Given the description of an element on the screen output the (x, y) to click on. 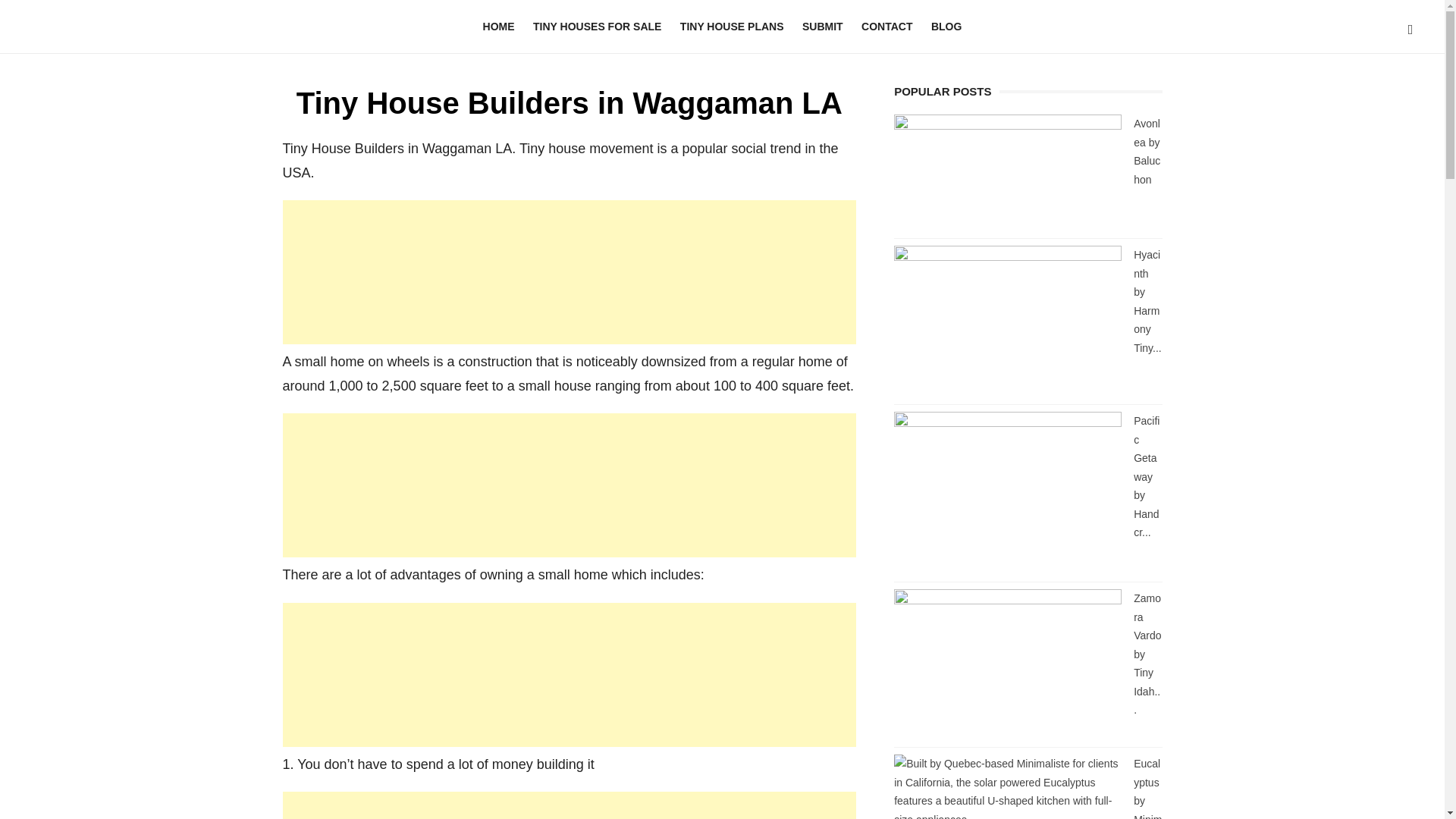
CONTACT (886, 26)
TINY HOUSE PLANS (732, 26)
TINY HOUSES FOR SALE (596, 26)
HOME (499, 26)
SUBMIT (822, 26)
BLOG (946, 26)
Tiny Houses Near Me (145, 22)
